Given the description of an element on the screen output the (x, y) to click on. 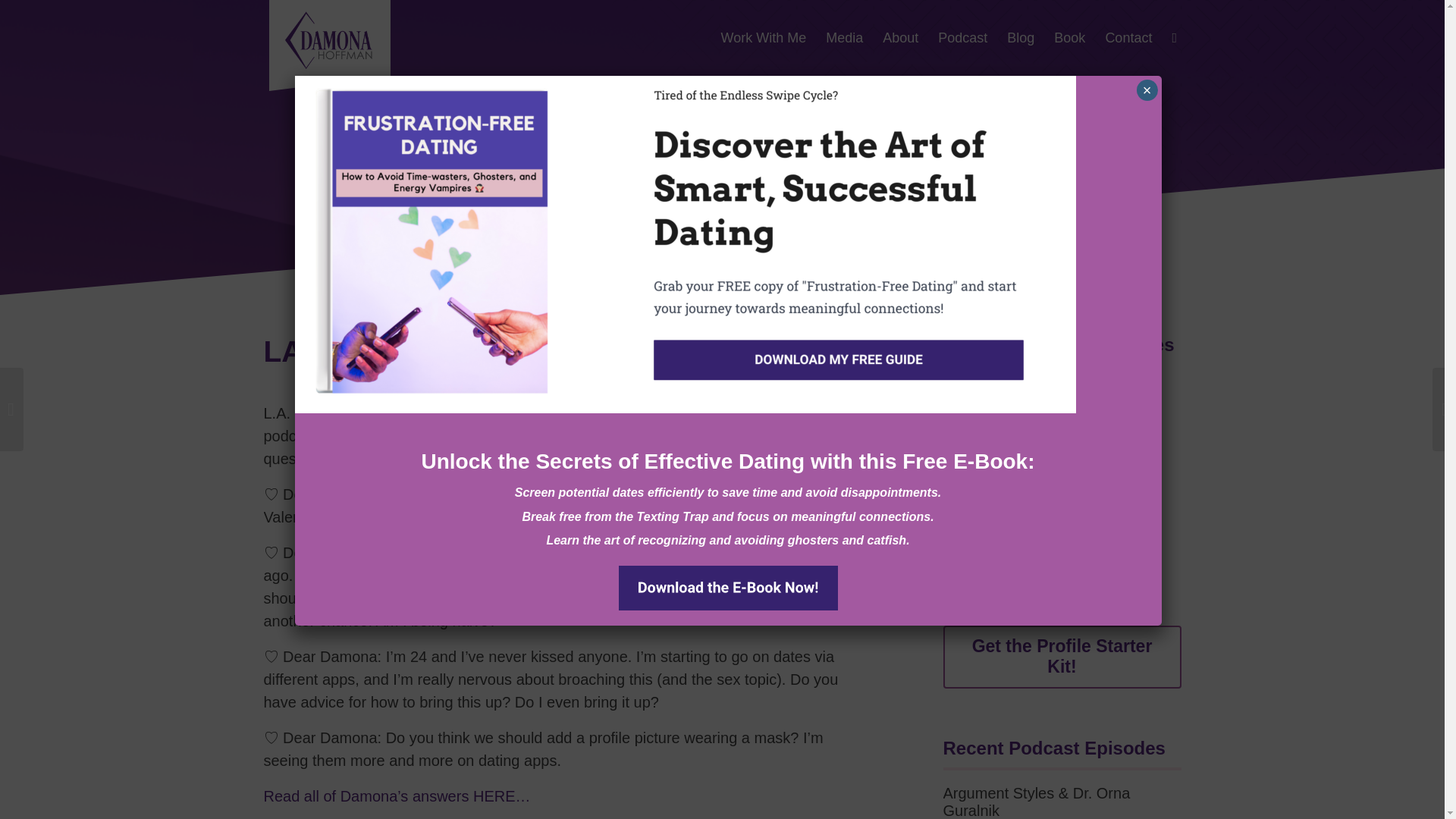
Get the Profile Starter Kit! (1061, 656)
Podcast (962, 38)
Work With Me (763, 38)
